Given the description of an element on the screen output the (x, y) to click on. 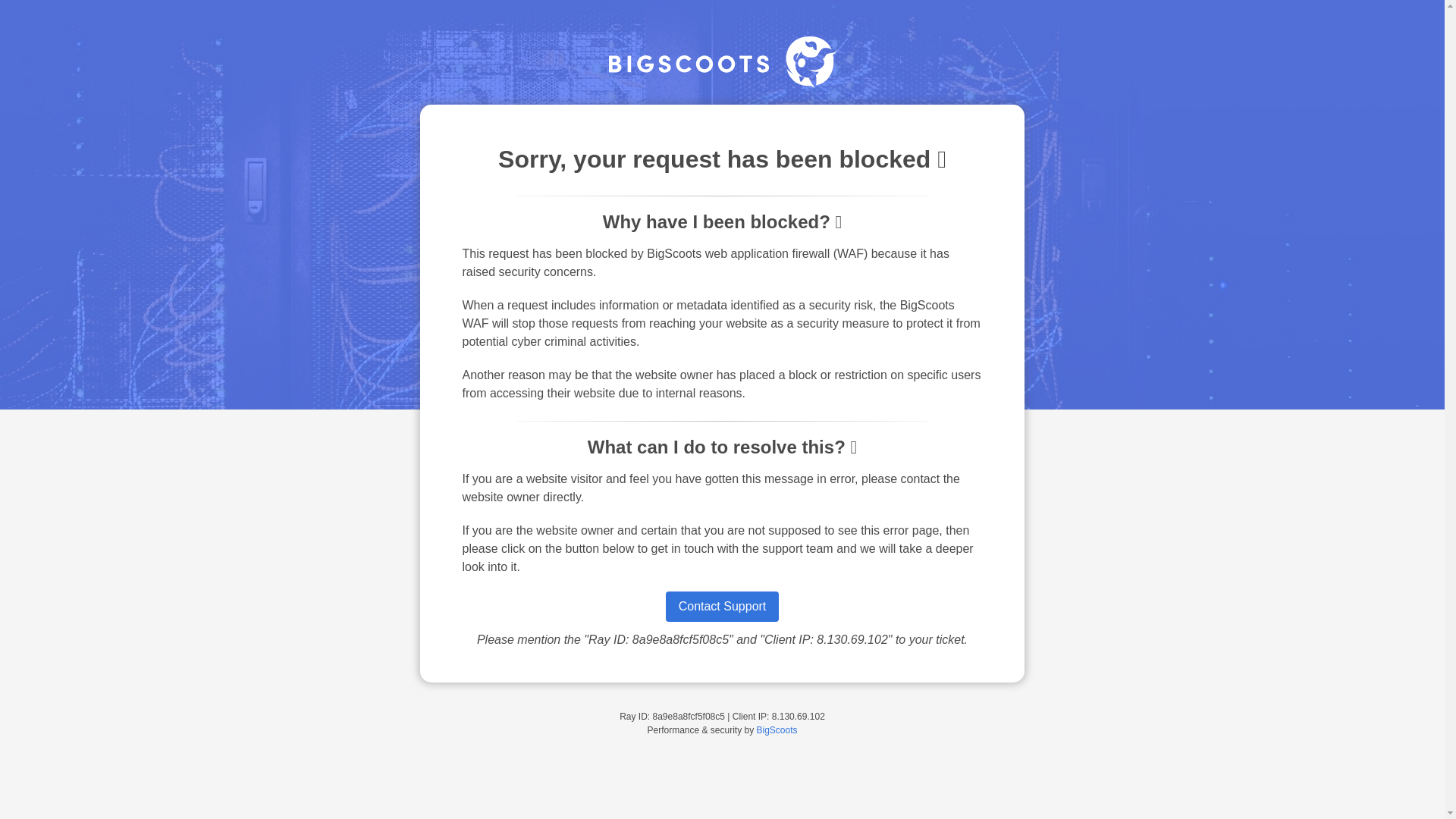
BigScoots (777, 729)
Contact Support (721, 606)
